Given the description of an element on the screen output the (x, y) to click on. 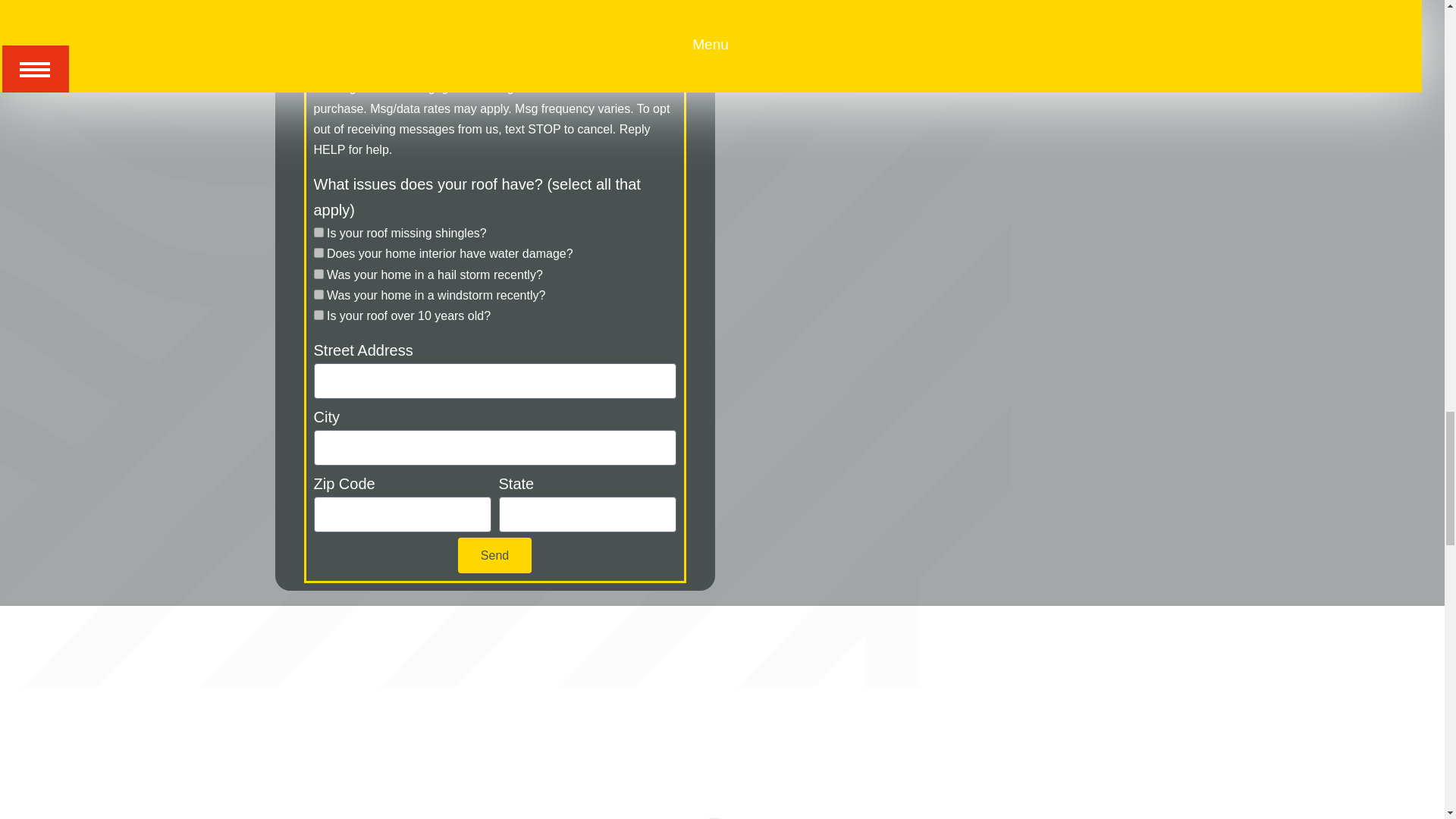
Does your home interior have water damage? (318, 252)
Is your roof over 10 years old? (318, 315)
Was your home in a windstorm recently? (318, 294)
Is your roof missing shingles? (318, 232)
Was your home in a hail storm recently? (318, 274)
Send (494, 555)
